Given the description of an element on the screen output the (x, y) to click on. 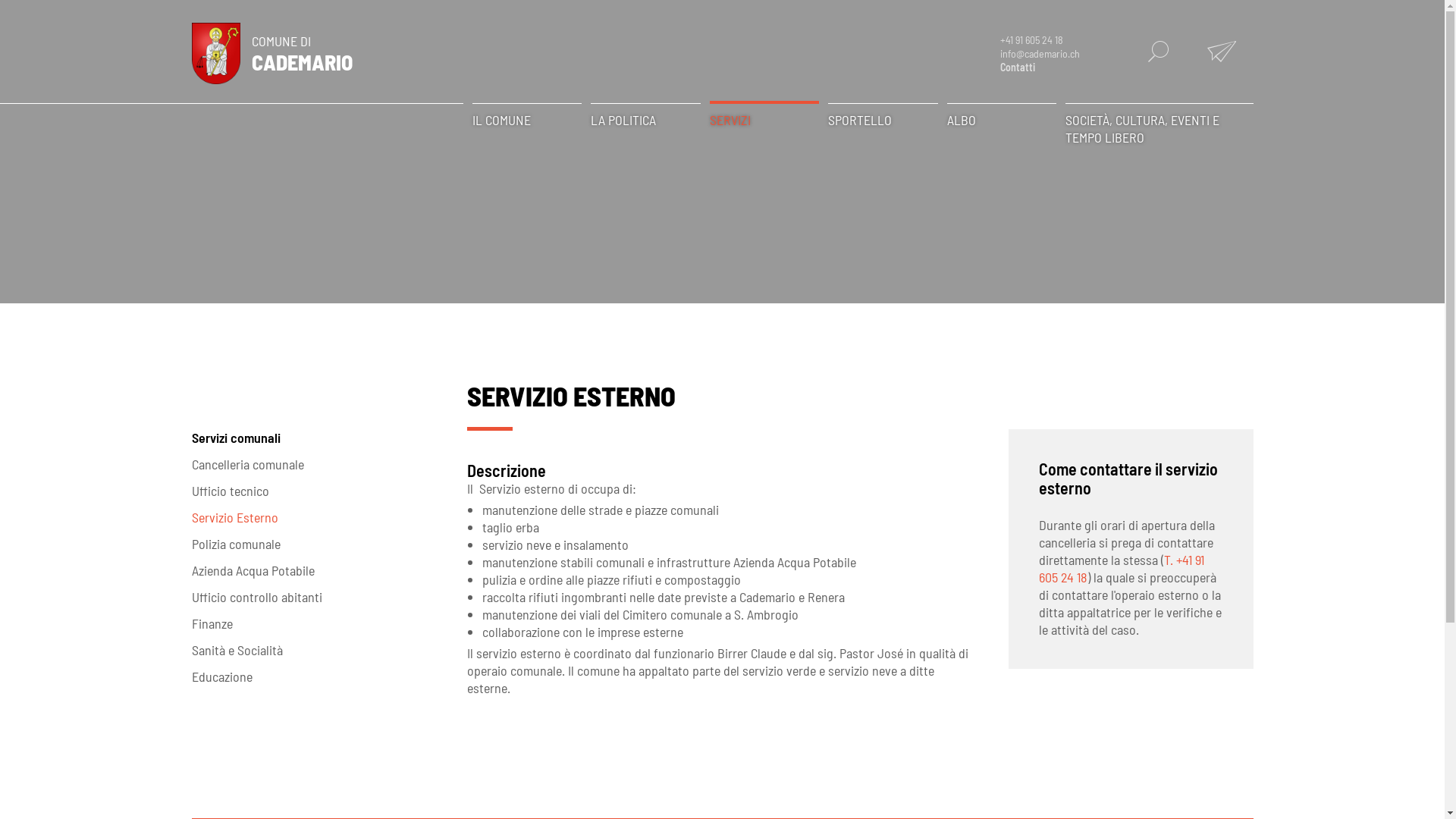
Educazione Element type: text (313, 676)
T. +41 91 605 24 18 Element type: text (1121, 568)
Cancelleria comunale Element type: text (313, 464)
Cerca nel sito Element type: hover (1157, 51)
Contatta un servizio Element type: hover (1221, 51)
ALBO Element type: text (1001, 119)
Contatti Element type: text (1017, 67)
Ufficio tecnico Element type: text (313, 490)
COMUNE DI
CADEMARIO Element type: text (271, 51)
SERVIZI Element type: text (764, 118)
LA POLITICA Element type: text (645, 119)
info@cademario.ch Element type: text (1039, 53)
Servizio Esterno Element type: text (313, 517)
IL COMUNE Element type: text (526, 119)
SPORTELLO Element type: text (883, 119)
Polizia comunale Element type: text (313, 543)
Ufficio controllo abitanti Element type: text (313, 596)
Finanze Element type: text (313, 623)
+41 91 605 24 18 Element type: text (1031, 40)
Azienda Acqua Potabile Element type: text (313, 570)
